Given the description of an element on the screen output the (x, y) to click on. 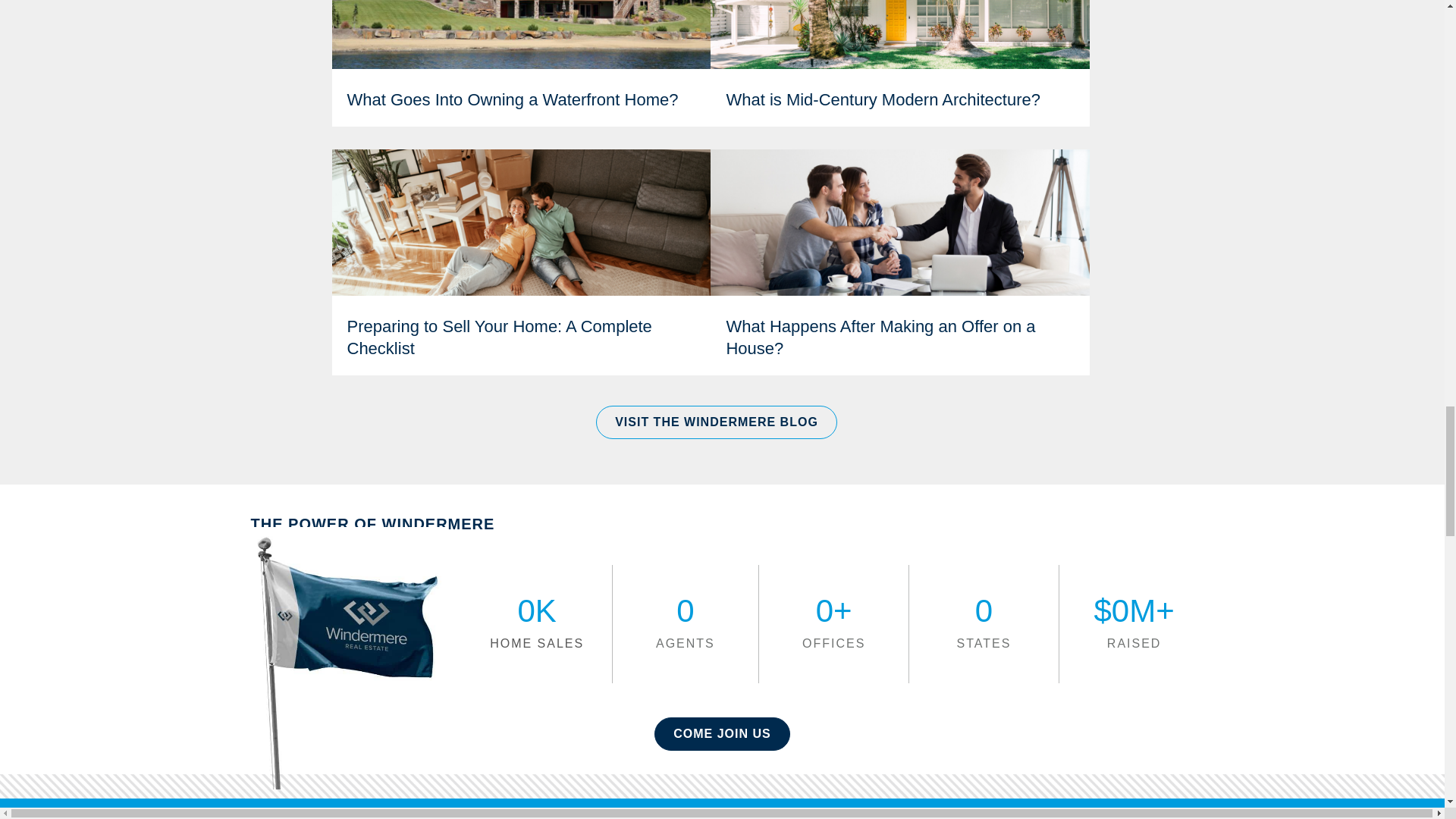
What Goes Into Owning a Waterfront Home? (512, 99)
